Given the description of an element on the screen output the (x, y) to click on. 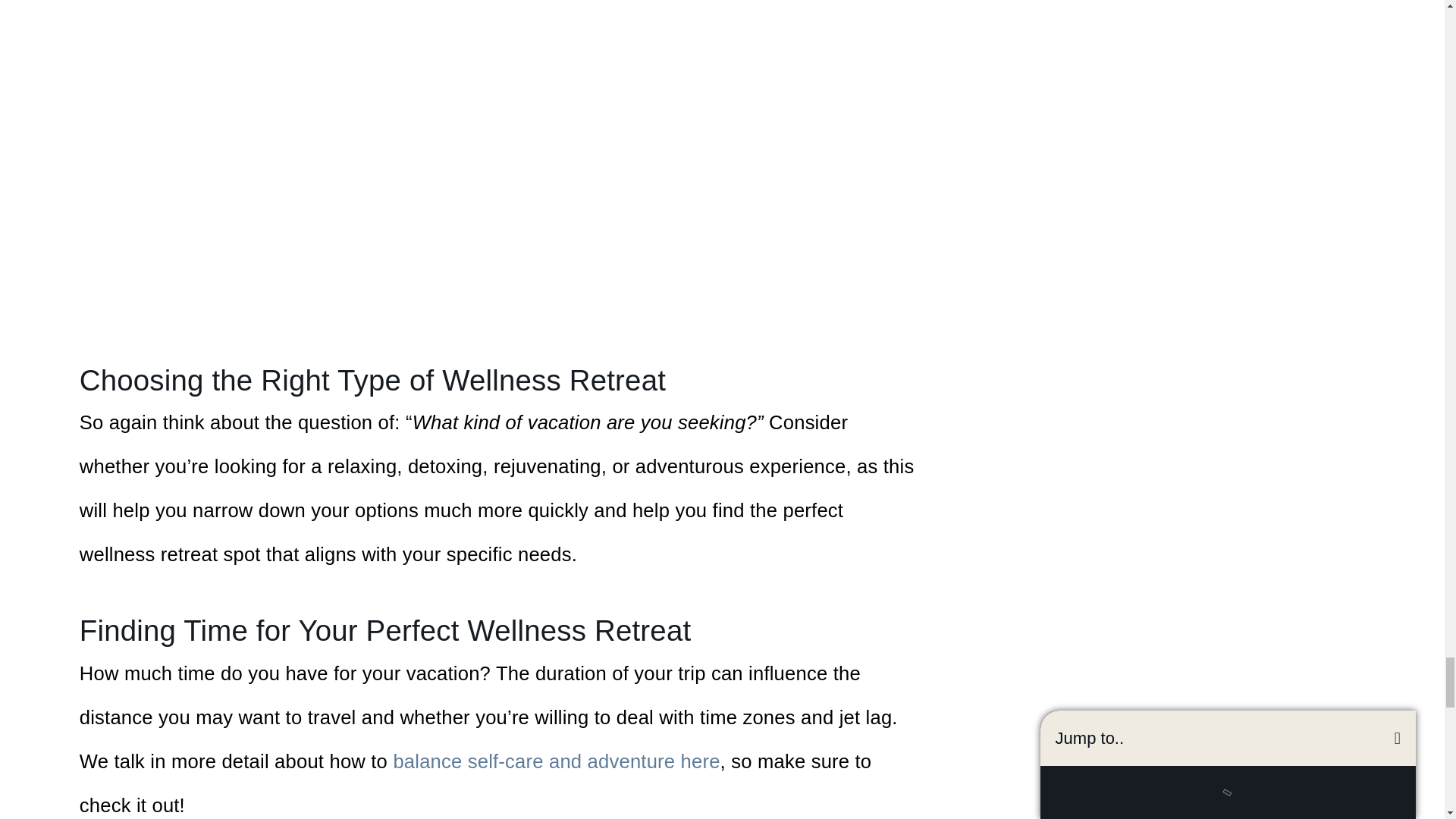
balance self-care and adventure here (556, 761)
